Given the description of an element on the screen output the (x, y) to click on. 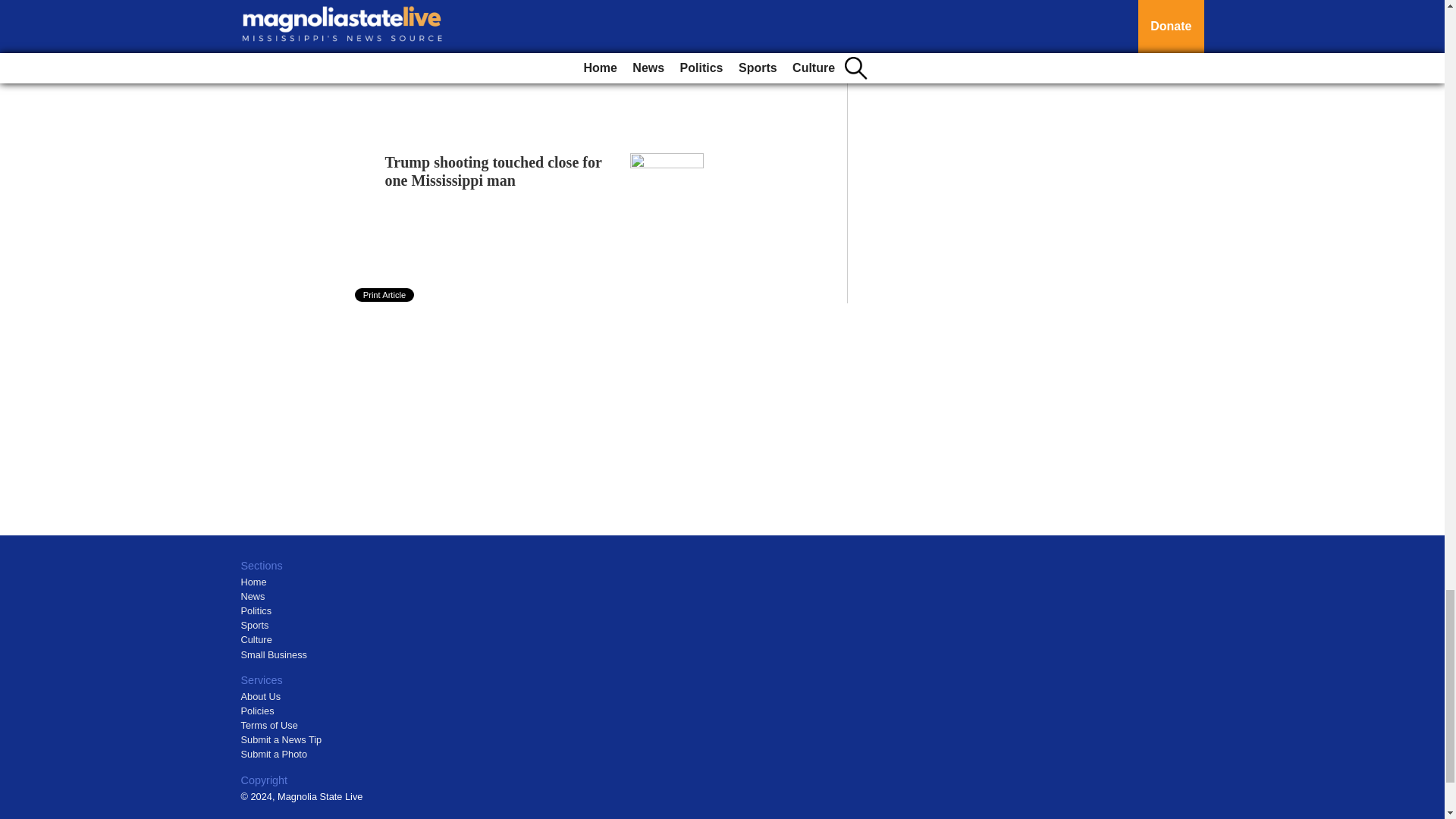
Home (253, 582)
Small Business (274, 654)
Sports (255, 624)
About Us (261, 696)
Terms of Use (269, 725)
Politics (256, 610)
News (252, 595)
Submit a Photo (274, 754)
Policies (258, 710)
Trump shooting touched close for one Mississippi man (493, 171)
Submit a News Tip (281, 739)
Print Article (384, 295)
Culture (256, 639)
